Given the description of an element on the screen output the (x, y) to click on. 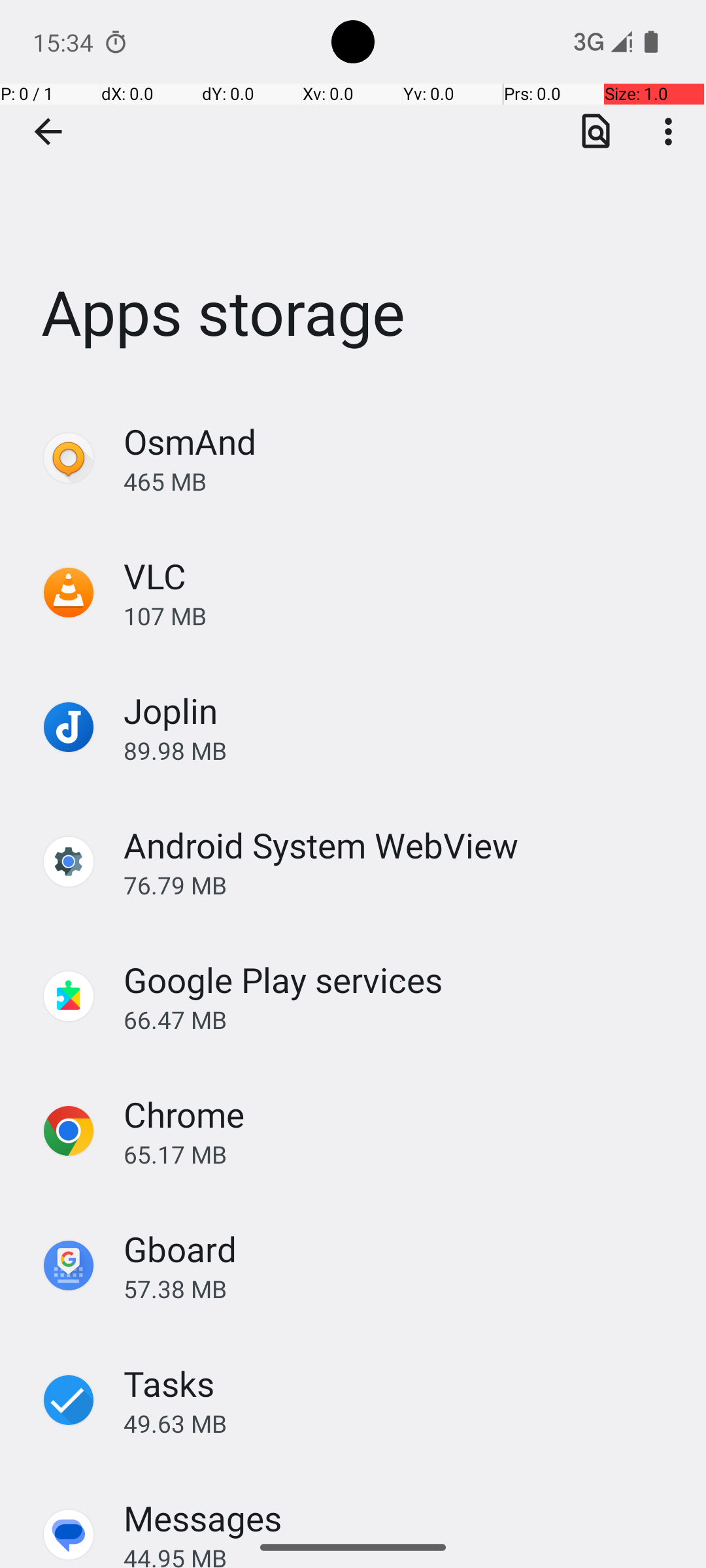
Apps storage Element type: android.widget.FrameLayout (353, 195)
465 MB Element type: android.widget.TextView (400, 480)
107 MB Element type: android.widget.TextView (400, 615)
89.98 MB Element type: android.widget.TextView (400, 750)
76.79 MB Element type: android.widget.TextView (400, 884)
66.47 MB Element type: android.widget.TextView (400, 1019)
65.17 MB Element type: android.widget.TextView (400, 1153)
Gboard Element type: android.widget.TextView (179, 1248)
57.38 MB Element type: android.widget.TextView (400, 1288)
49.63 MB Element type: android.widget.TextView (400, 1422)
